Given the description of an element on the screen output the (x, y) to click on. 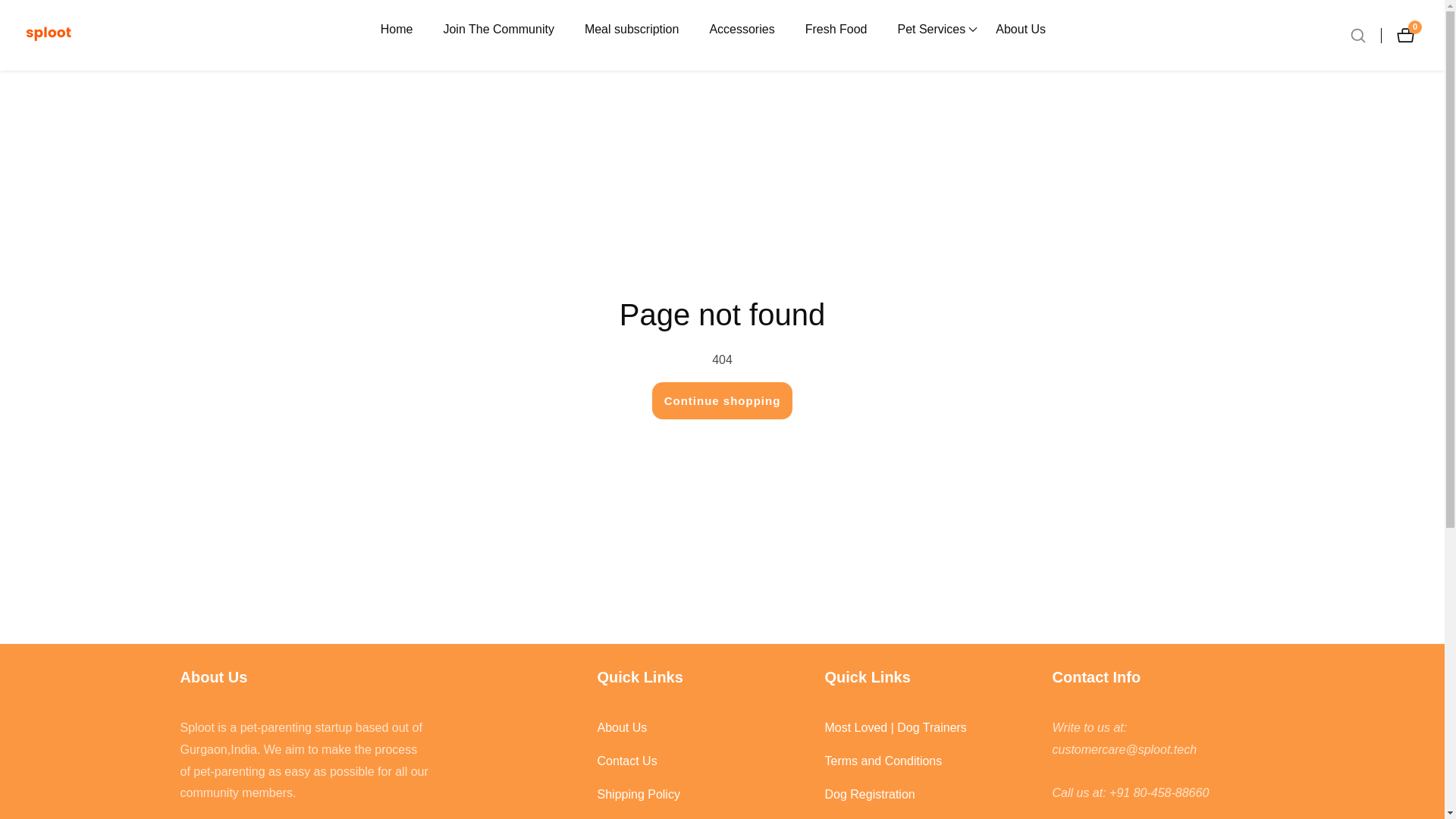
Accessories (741, 29)
Skip to content (11, 7)
Meal subscription (632, 29)
Fresh Food (836, 29)
About Us (702, 728)
Join The Community (497, 29)
Continue shopping (1409, 34)
